Given the description of an element on the screen output the (x, y) to click on. 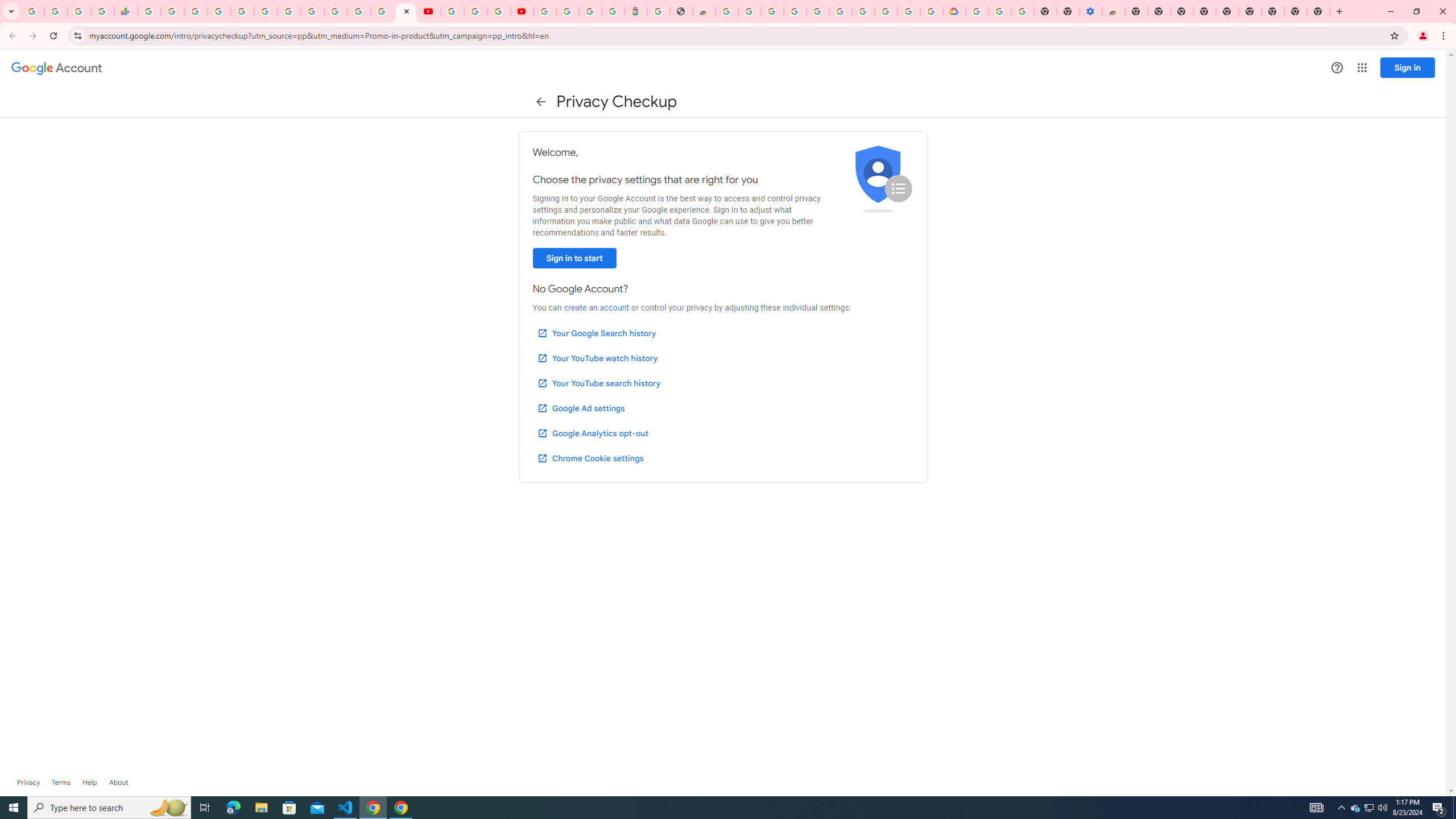
Create your Google Account (749, 11)
Sign in - Google Accounts (976, 11)
Settings - Accessibility (1091, 11)
YouTube (428, 11)
Google Ad settings (580, 408)
New Tab (1318, 11)
Google Account Help (999, 11)
Turn cookies on or off - Computer - Google Account Help (1022, 11)
Content Creator Programs & Opportunities - YouTube Creators (521, 11)
YouTube (312, 11)
